Given the description of an element on the screen output the (x, y) to click on. 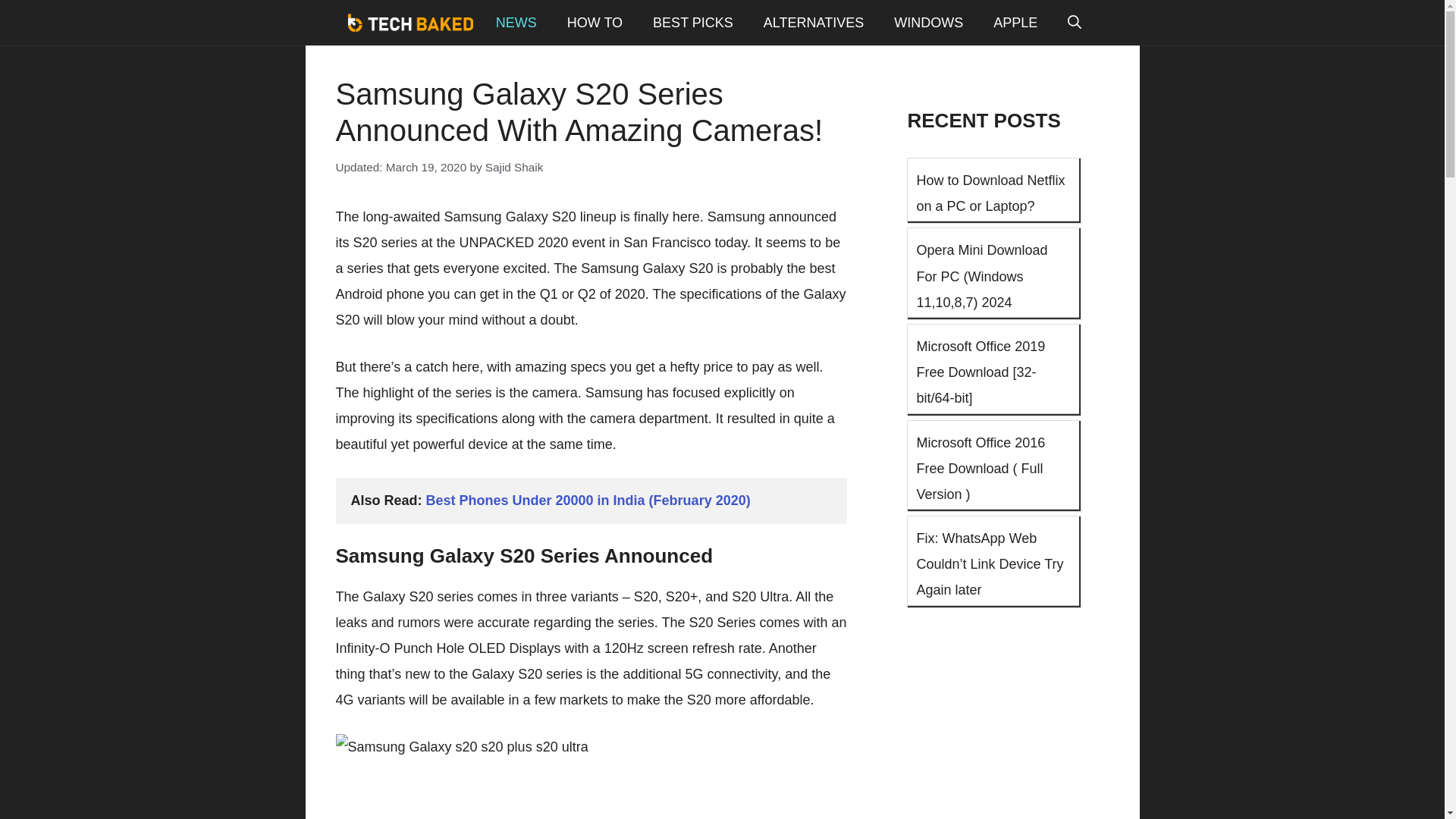
WINDOWS (928, 22)
Sajid Shaik (513, 166)
View all posts by Sajid Shaik (513, 166)
APPLE (1015, 22)
NEWS (515, 22)
BEST PICKS (692, 22)
Tech Baked (410, 22)
HOW TO (594, 22)
How to Download Netflix on a PC or Laptop? (991, 193)
ALTERNATIVES (813, 22)
